Given the description of an element on the screen output the (x, y) to click on. 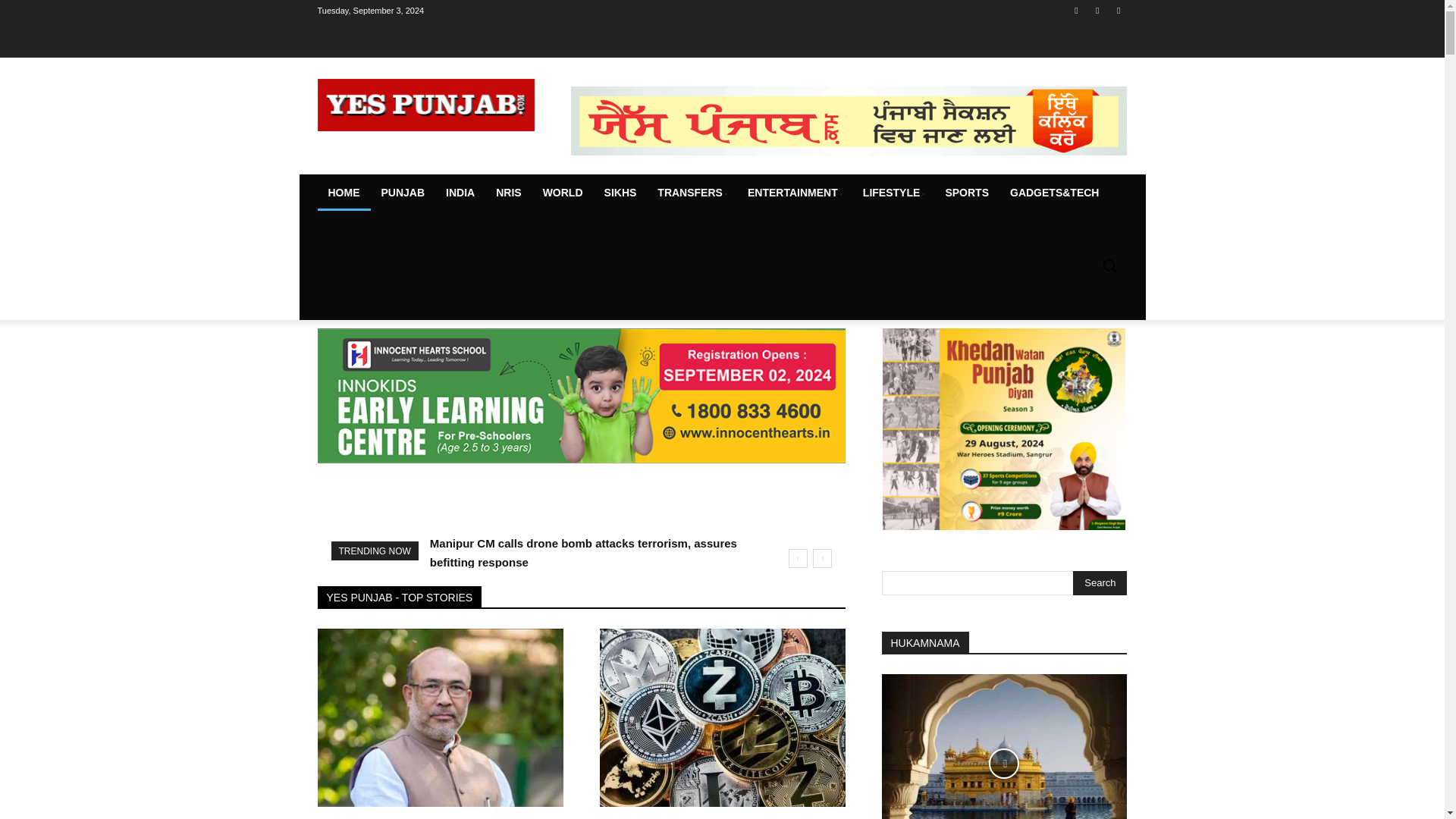
WORLD (563, 192)
HOME (343, 192)
INDIA (459, 192)
PUNJAB (402, 192)
Facebook (1075, 9)
ENTERTAINMENT (793, 192)
Instagram (1097, 9)
TRANSFERS (691, 192)
